Given the description of an element on the screen output the (x, y) to click on. 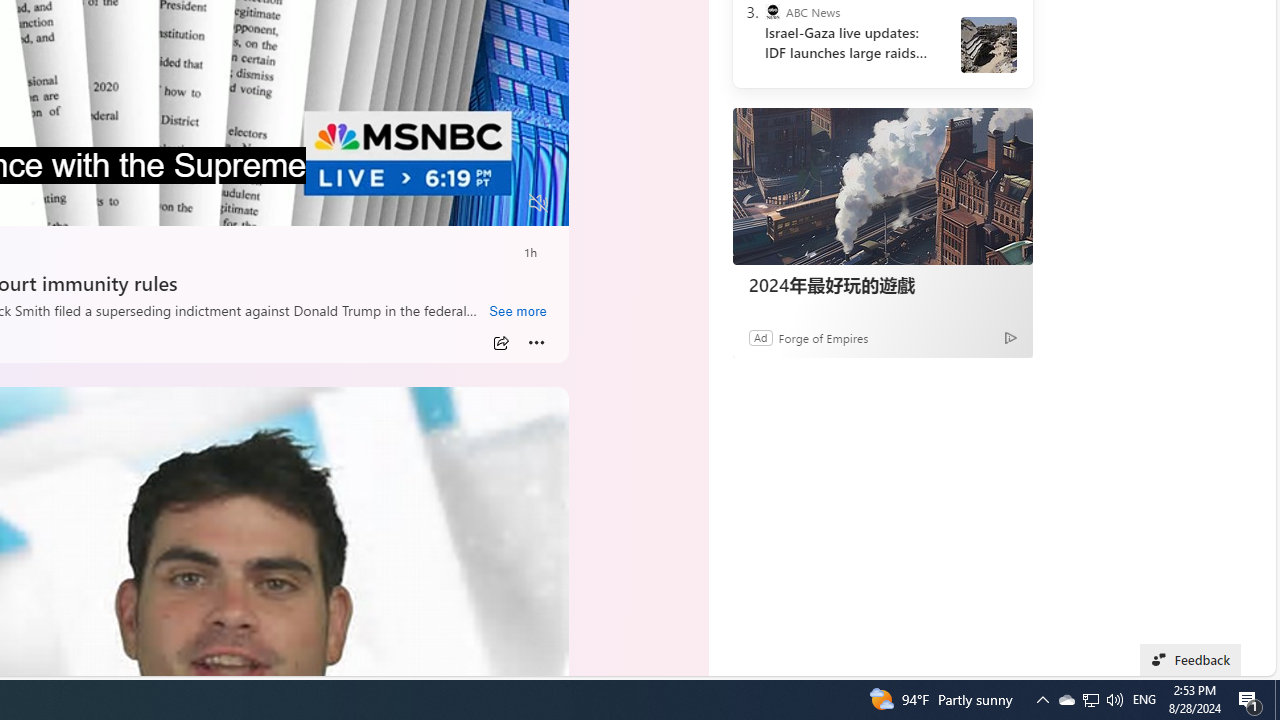
More (536, 343)
Share (501, 343)
More (536, 343)
